Given the description of an element on the screen output the (x, y) to click on. 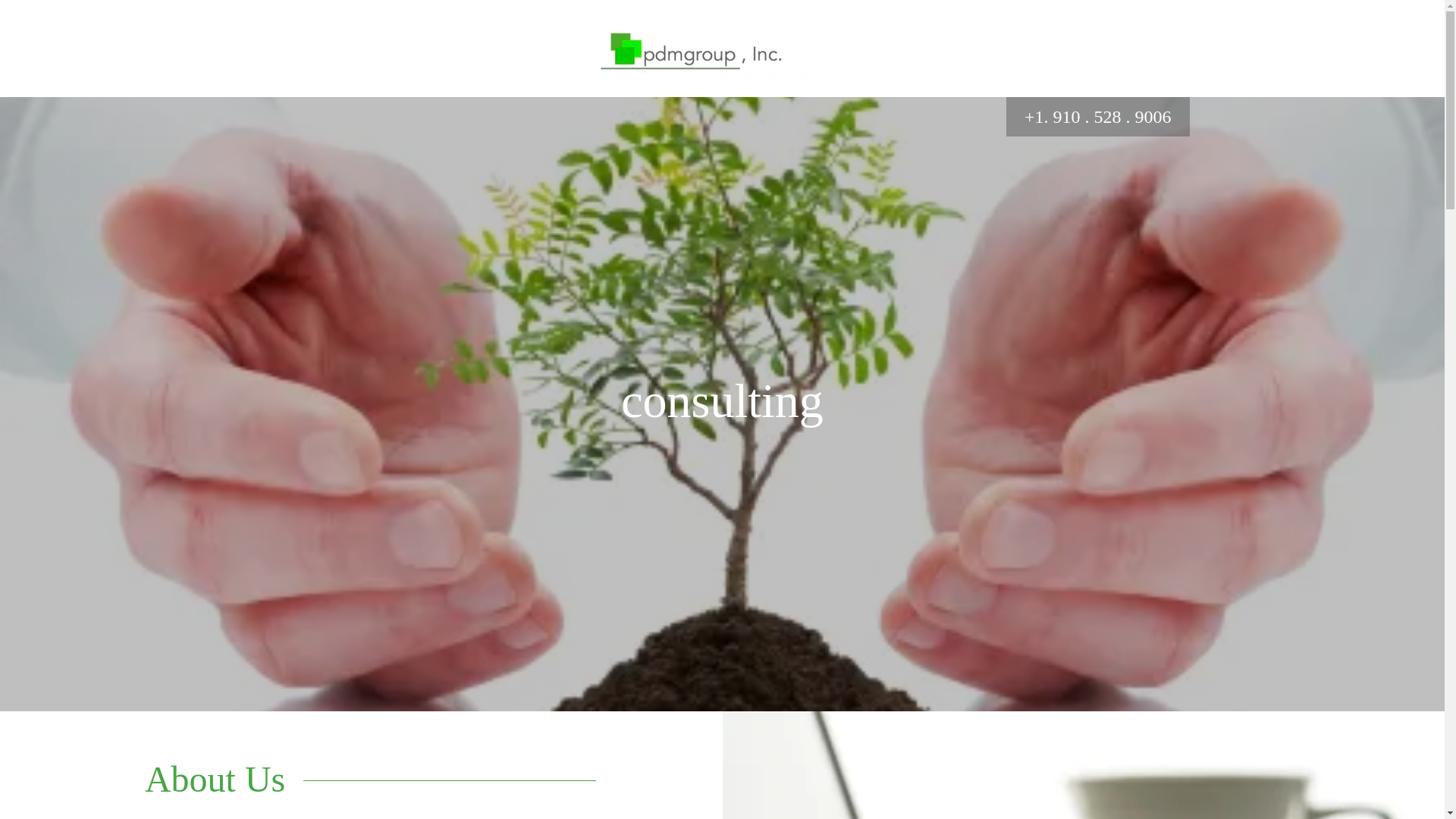
1. 910 . 528 . 9006 (1101, 116)
Pdm Group Inc. (722, 46)
